Given the description of an element on the screen output the (x, y) to click on. 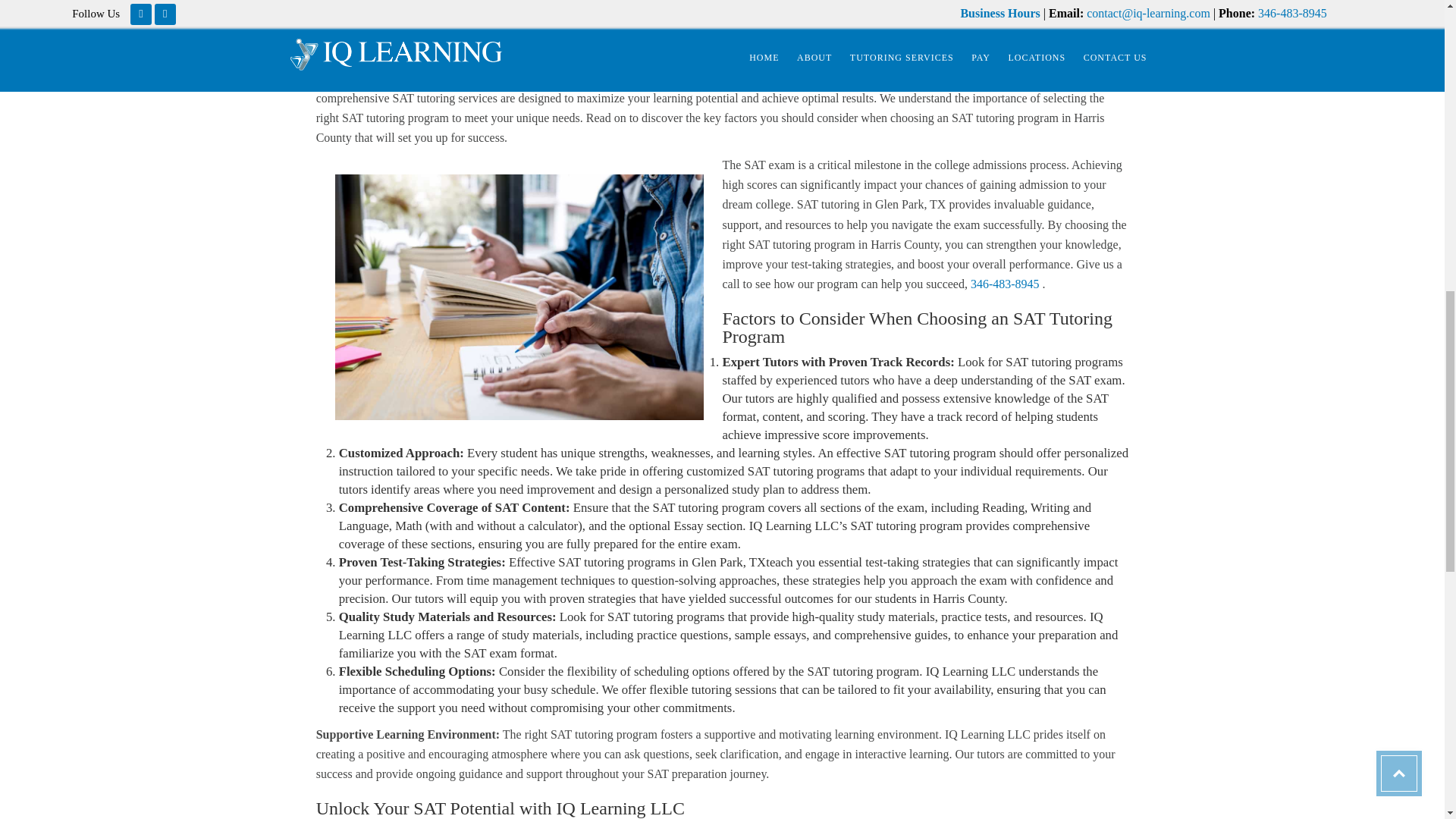
SAT Tutoring in Glen Park, TX (518, 296)
